Given the description of an element on the screen output the (x, y) to click on. 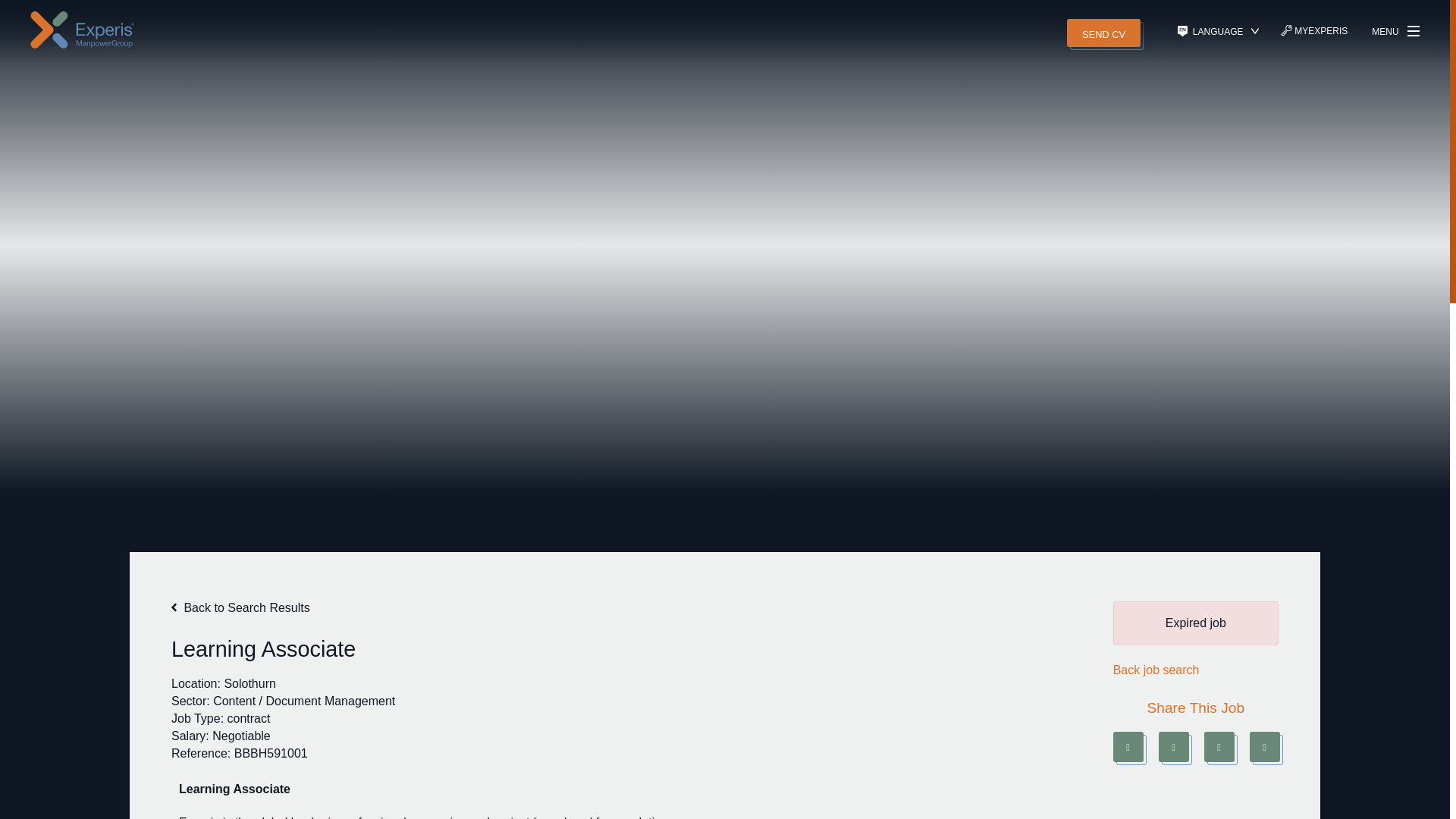
Back job search (1156, 668)
SEND CV (1103, 31)
LANGUAGE (1217, 31)
Back to Search Results (240, 607)
